Given the description of an element on the screen output the (x, y) to click on. 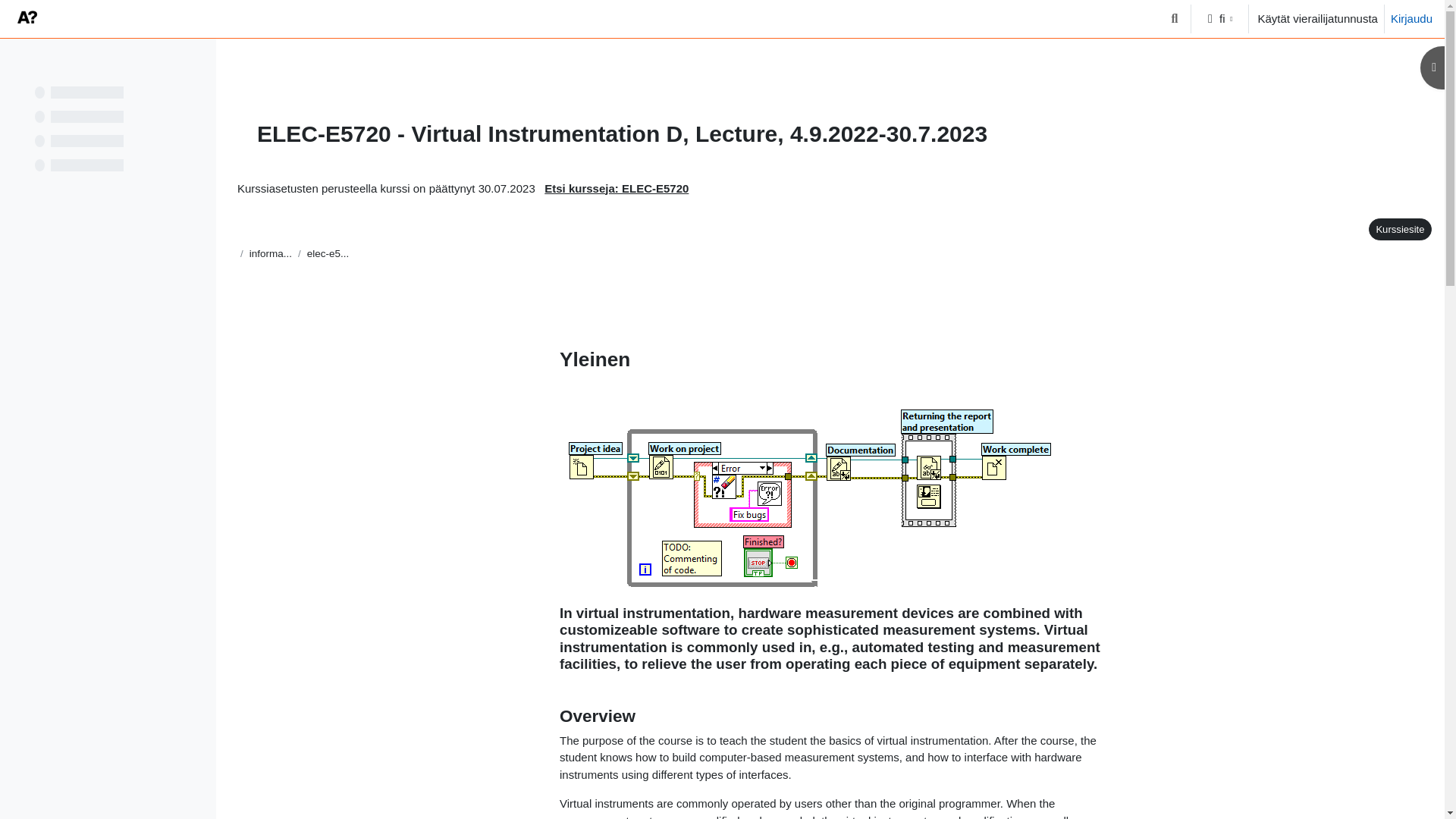
Kurssiesite (1399, 229)
View course syllabus (1397, 229)
